Given the description of an element on the screen output the (x, y) to click on. 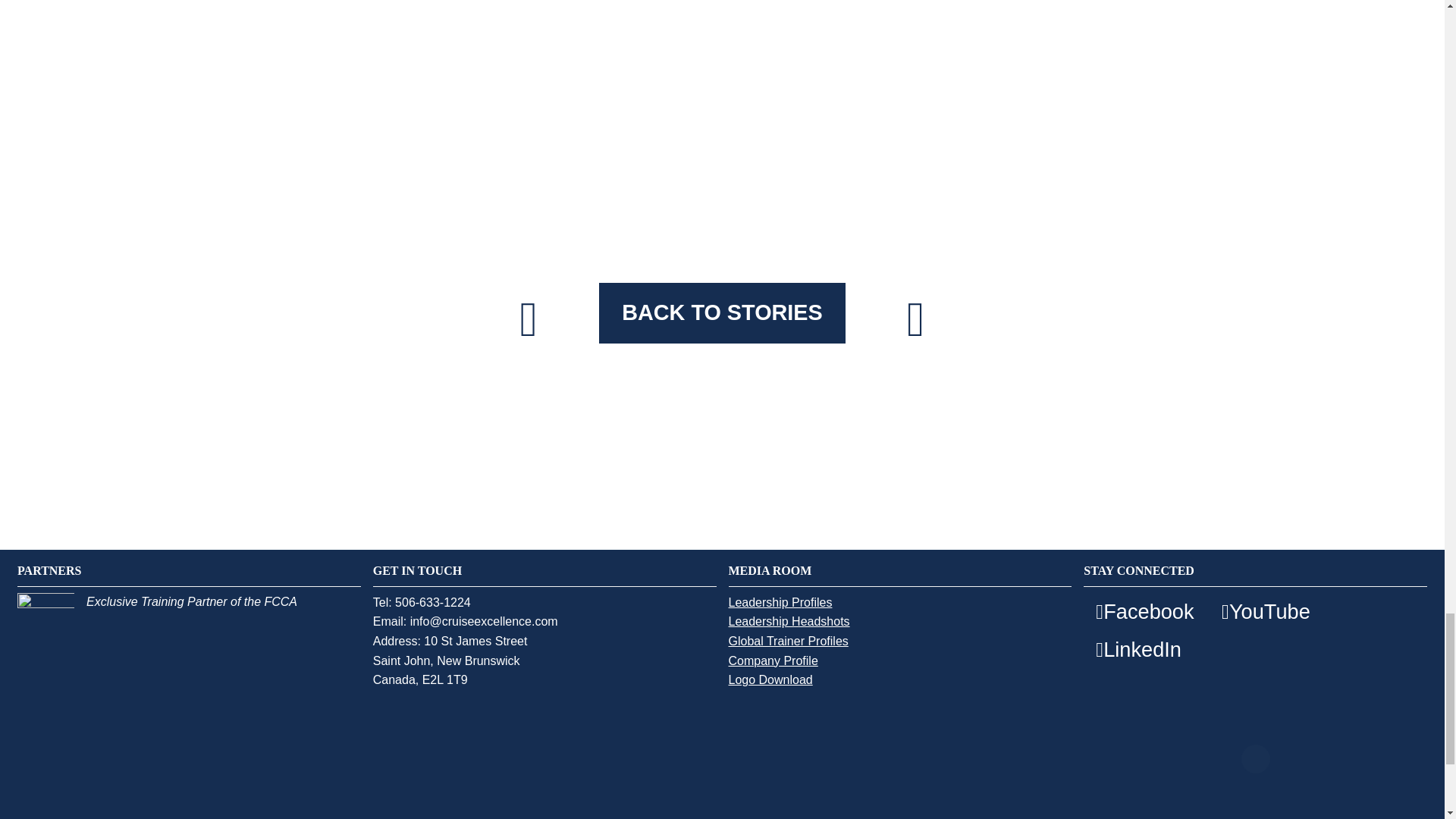
BACK TO STORIES (721, 312)
Leadership Headshots (788, 621)
Global Trainer Profiles (787, 641)
Facebook (1144, 611)
Company Profile (772, 660)
LinkedIn (1138, 648)
YouTube (1265, 611)
Logo Download (770, 680)
Leadership Profiles (779, 602)
